Given the description of an element on the screen output the (x, y) to click on. 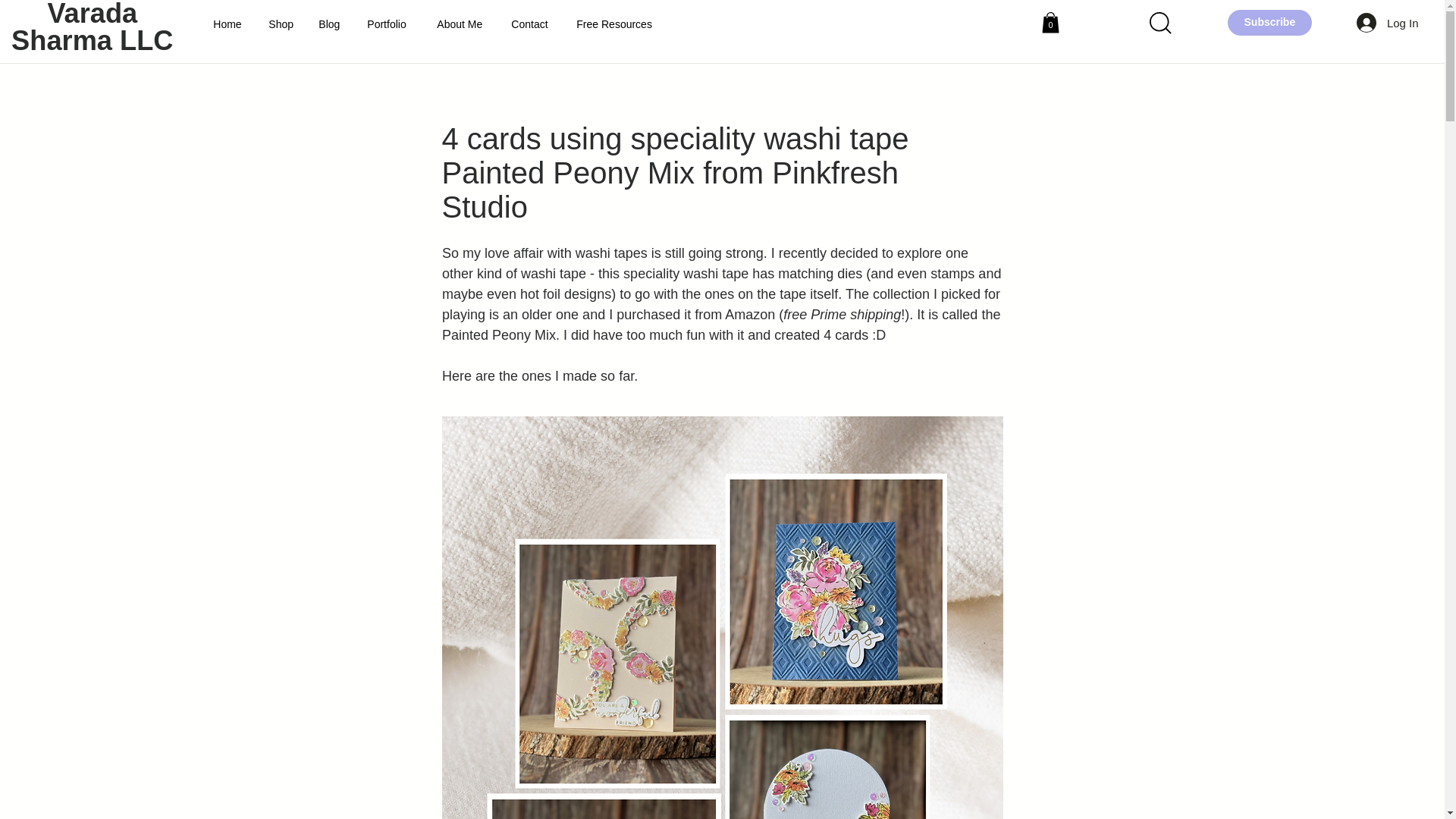
Subscribe (1270, 22)
Home (229, 24)
Blog (331, 24)
Portfolio (390, 24)
Shop (282, 24)
Contact (531, 24)
Free Resources (616, 24)
Log In (1387, 22)
About Me (462, 24)
